Given the description of an element on the screen output the (x, y) to click on. 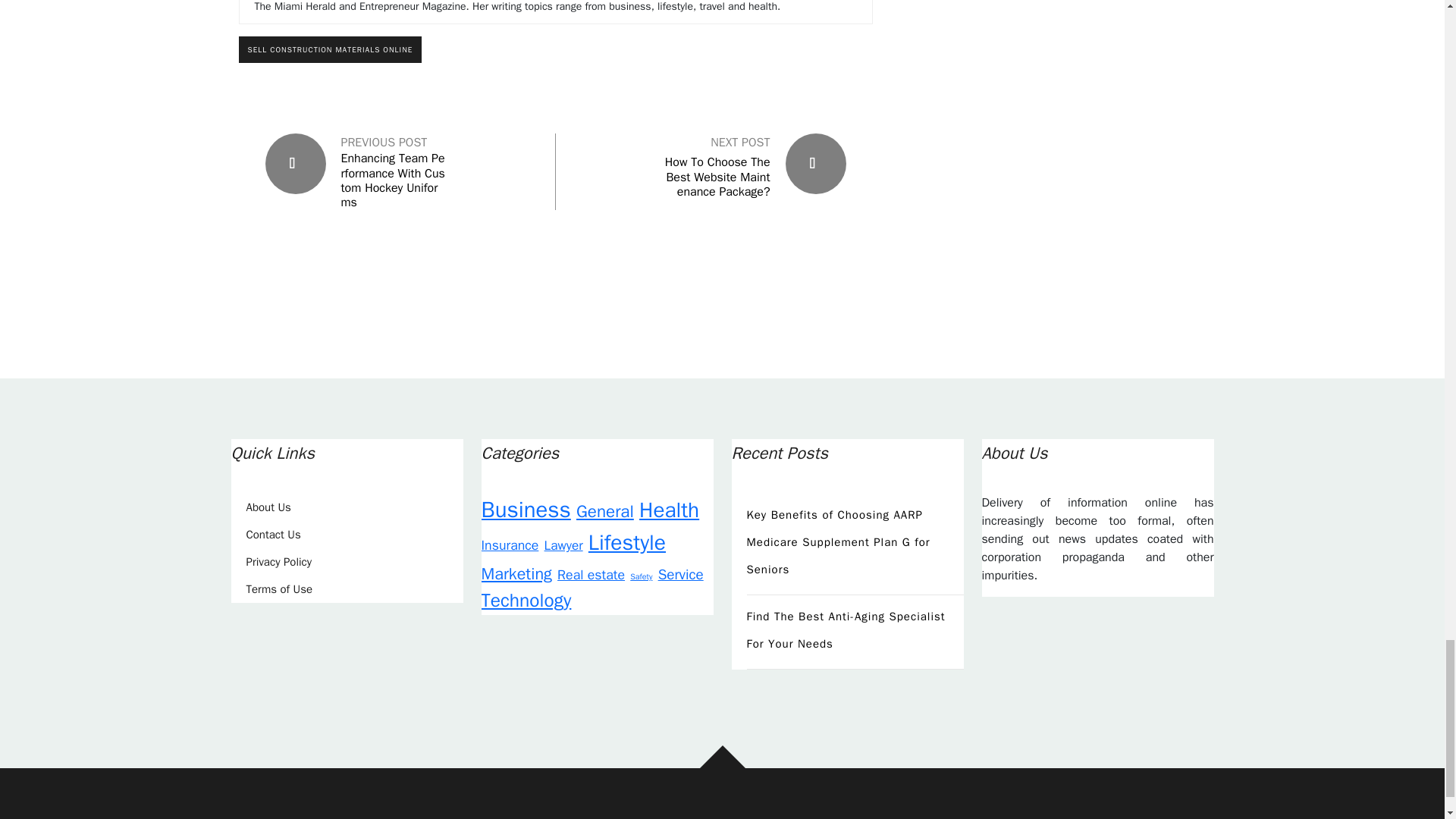
How To Choose The Best Website Maintenance Package? (717, 176)
PREVIOUS POST (384, 142)
NEXT POST (740, 142)
SELL CONSTRUCTION MATERIALS ONLINE (330, 49)
Enhancing Team Performance With Custom Hockey Uniforms (393, 180)
